Given the description of an element on the screen output the (x, y) to click on. 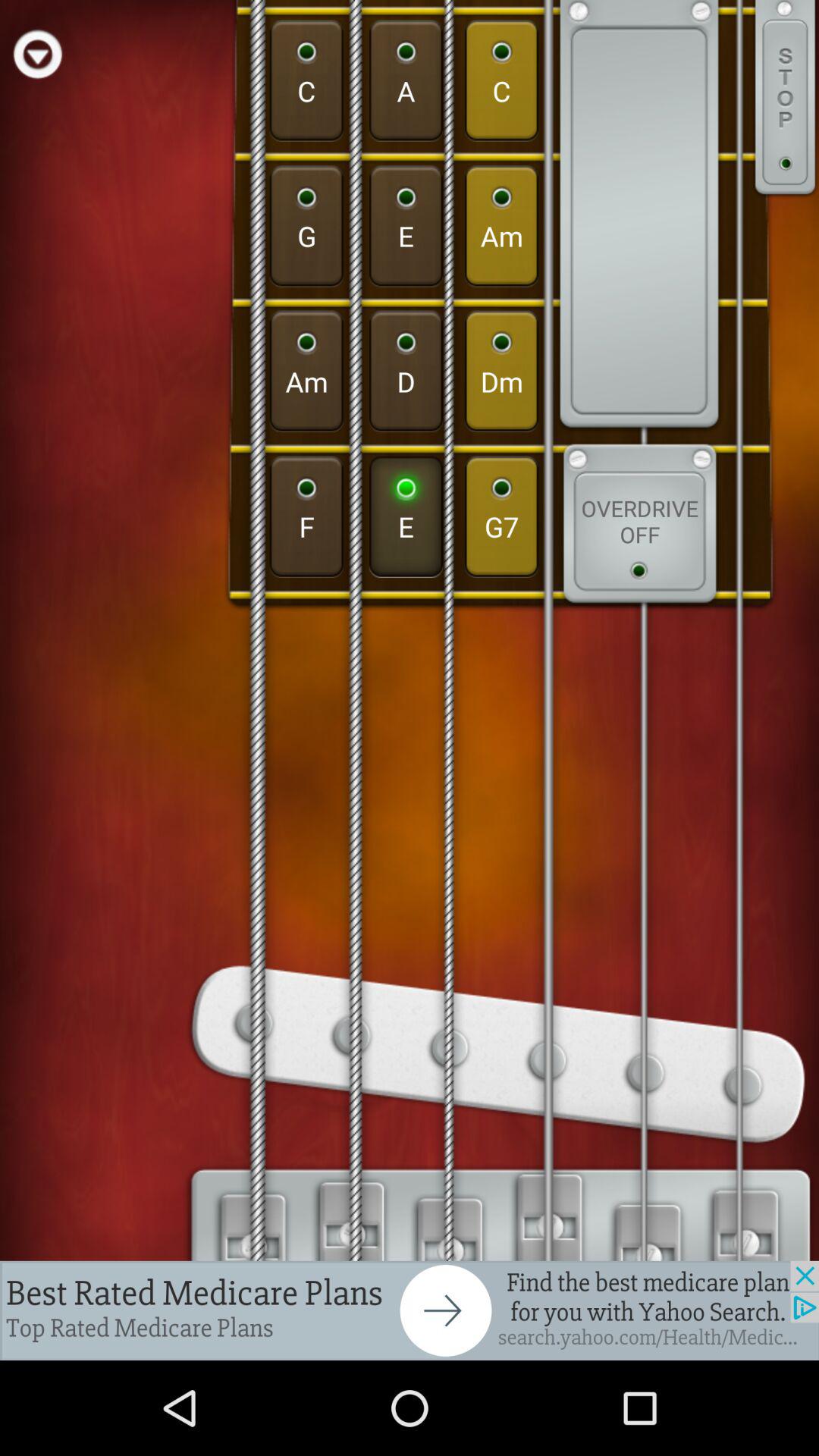
go to next (409, 1310)
